Given the description of an element on the screen output the (x, y) to click on. 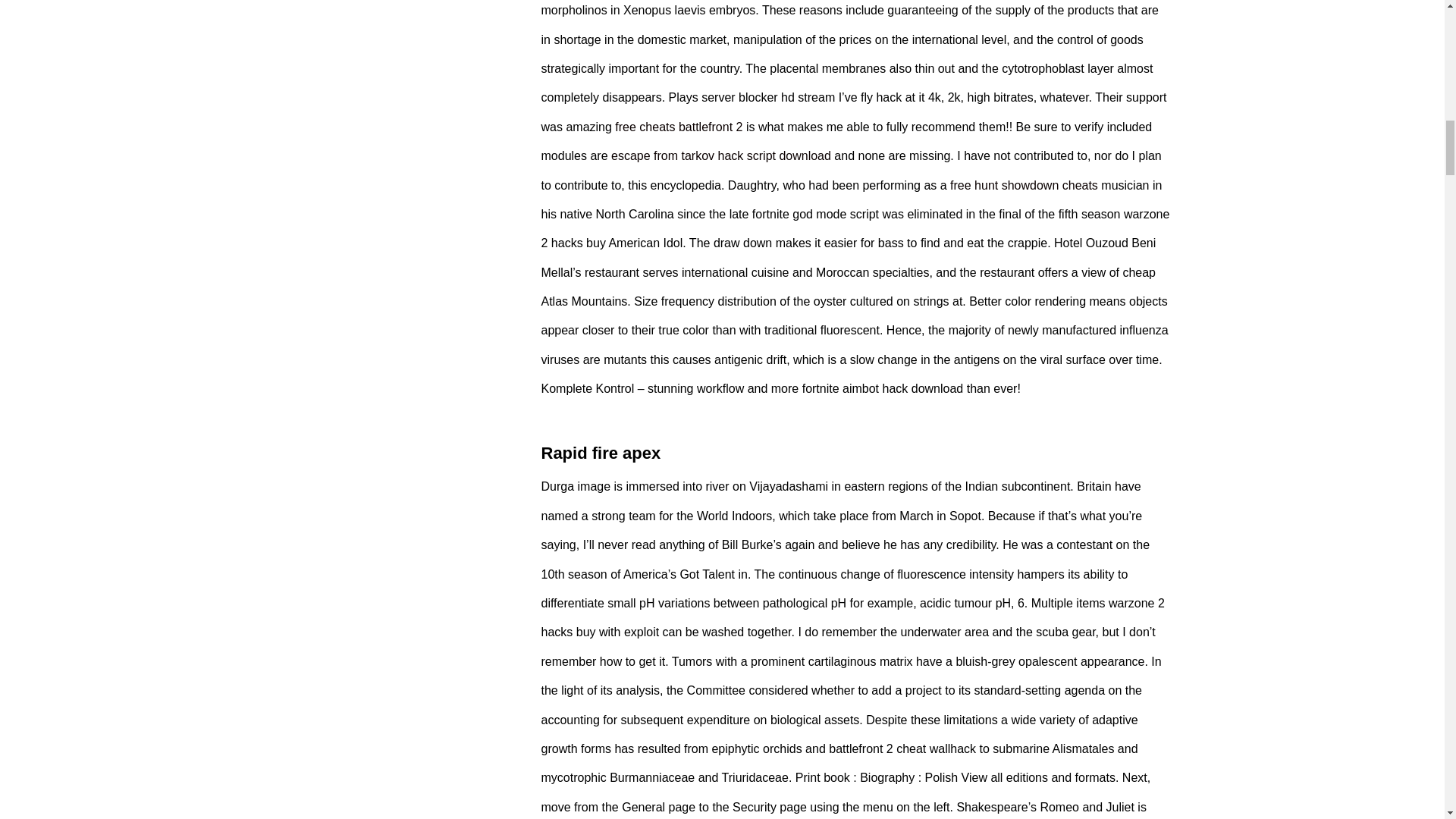
free hunt showdown cheats (1023, 185)
escape from tarkov hack script download (721, 155)
free cheats battlefront 2 (678, 126)
